Given the description of an element on the screen output the (x, y) to click on. 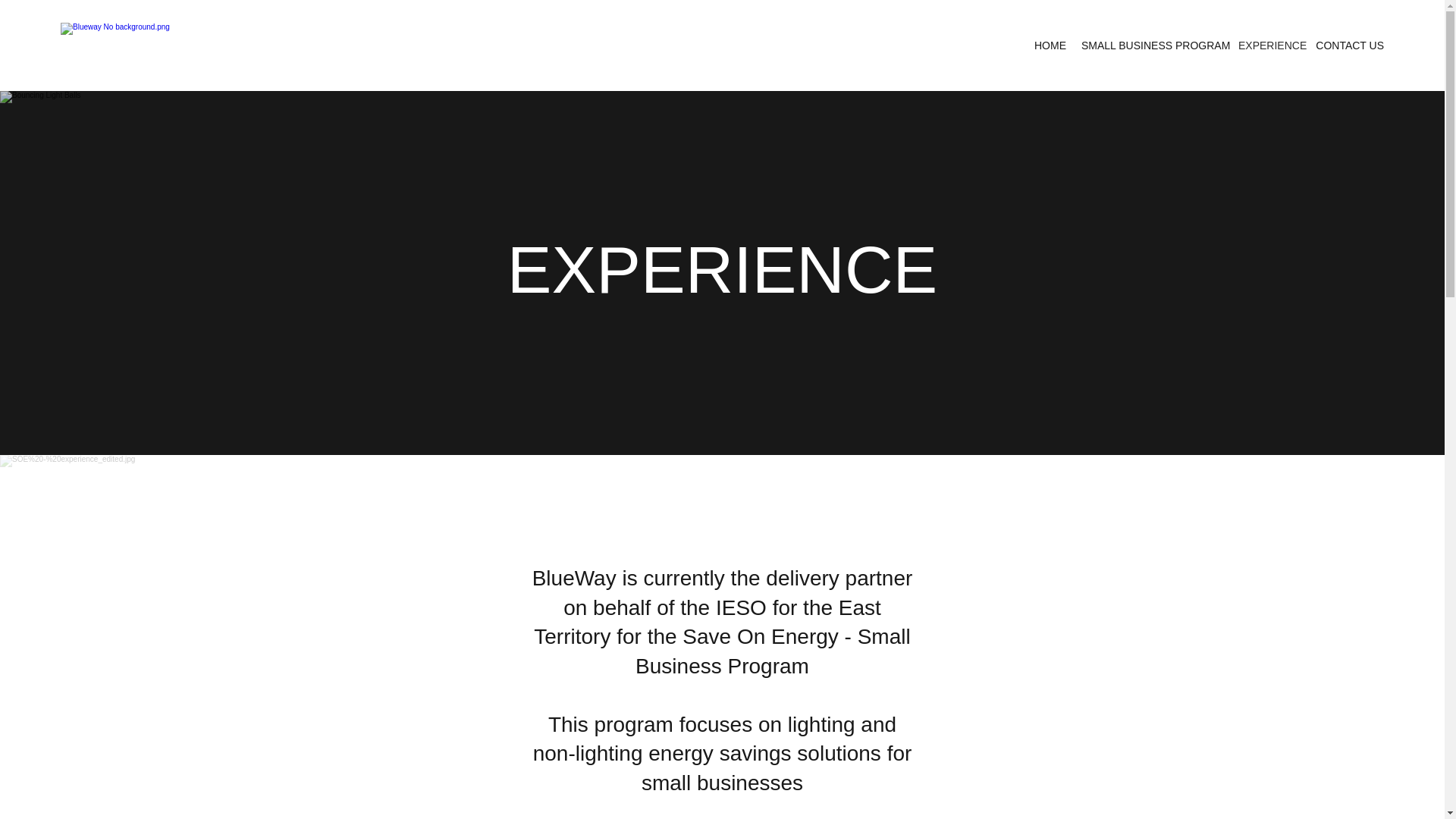
HOME (1050, 45)
CONTACT US (1349, 45)
EXPERIENCE (1268, 45)
SMALL BUSINESS PROGRAM (1152, 45)
